Given the description of an element on the screen output the (x, y) to click on. 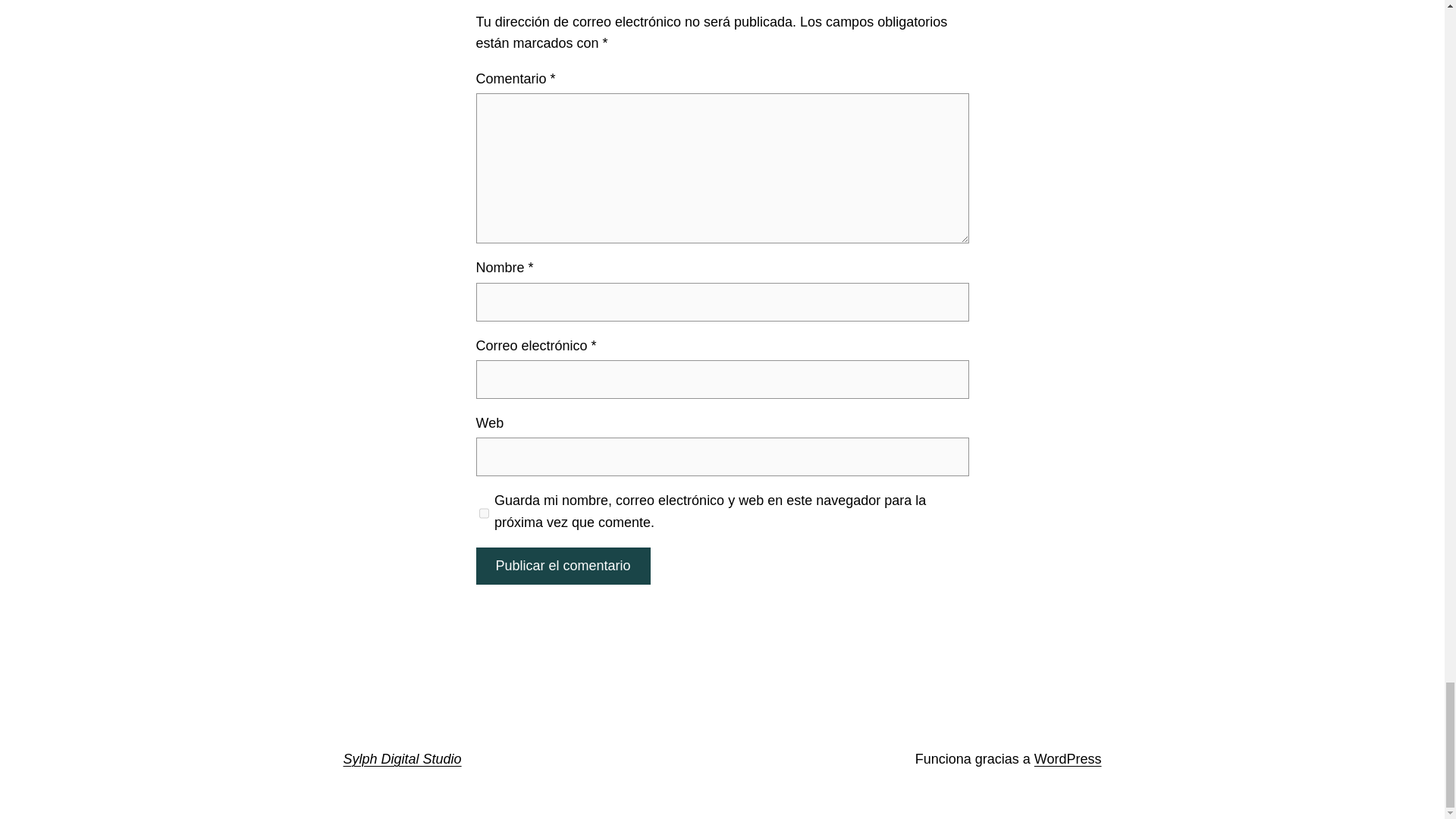
Publicar el comentario (563, 565)
